Given the description of an element on the screen output the (x, y) to click on. 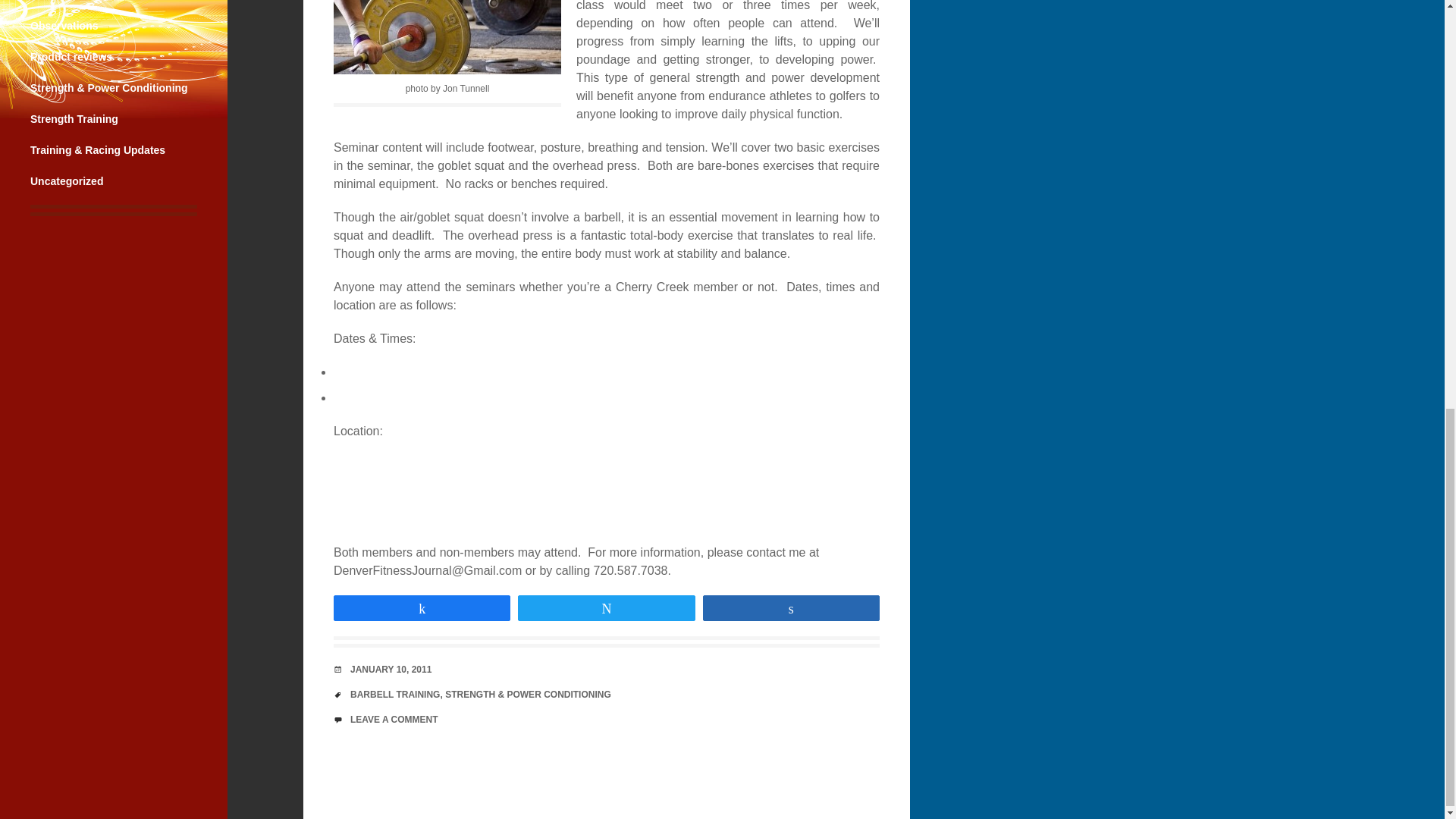
Observations (63, 25)
Uncategorized (66, 181)
barbell training (446, 37)
Strength Training (73, 119)
4:13 pm (390, 669)
Product reviews (71, 56)
Nutrition (52, 0)
